Given the description of an element on the screen output the (x, y) to click on. 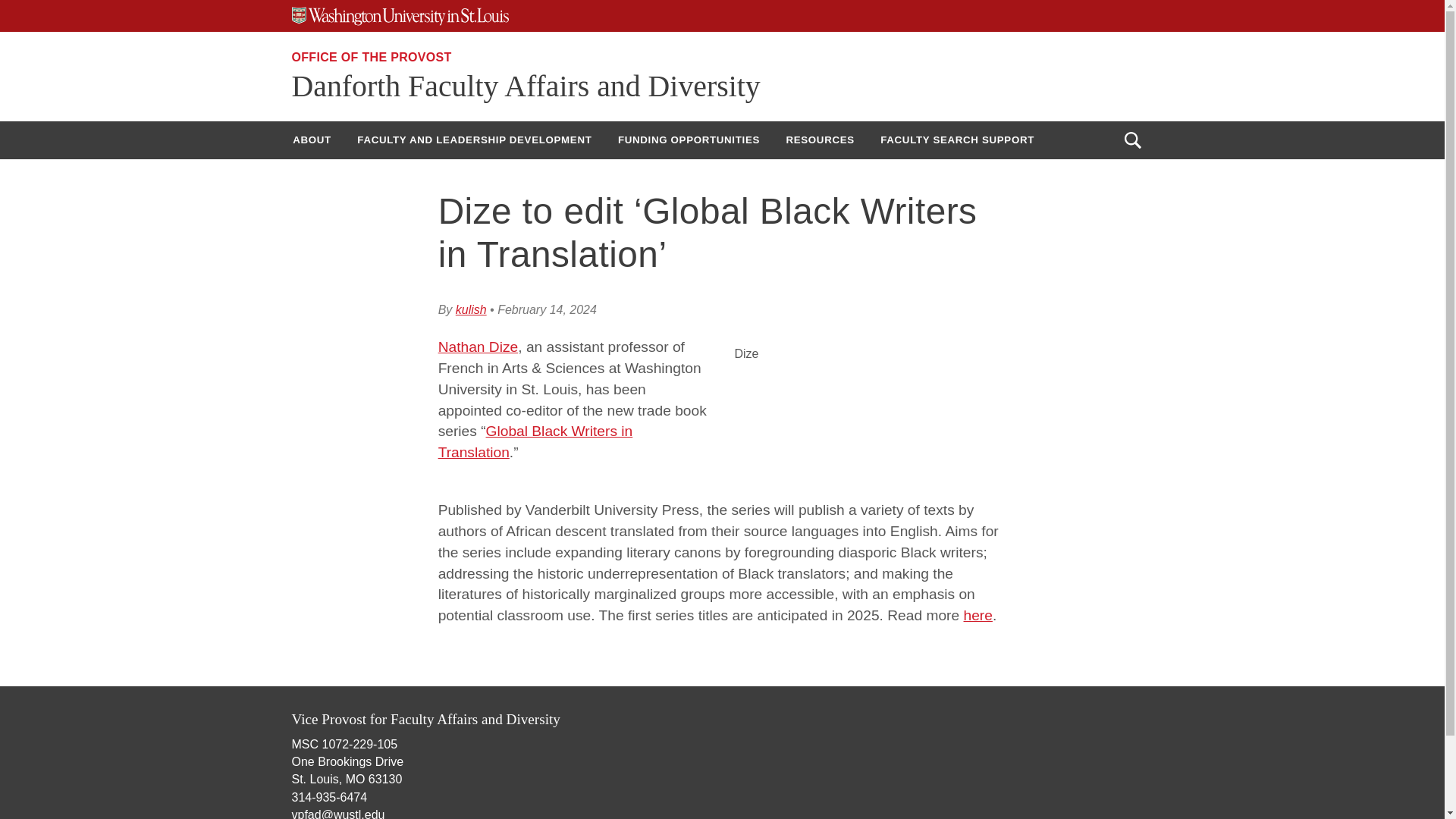
OFFICE OF THE PROVOST (371, 56)
Open Search (1132, 140)
RESOURCES (819, 139)
Danforth Faculty Affairs and Diversity (525, 86)
kulish (470, 309)
ABOUT (311, 139)
FUNDING OPPORTUNITIES (689, 139)
here (977, 615)
Nathan Dize (478, 346)
